Given the description of an element on the screen output the (x, y) to click on. 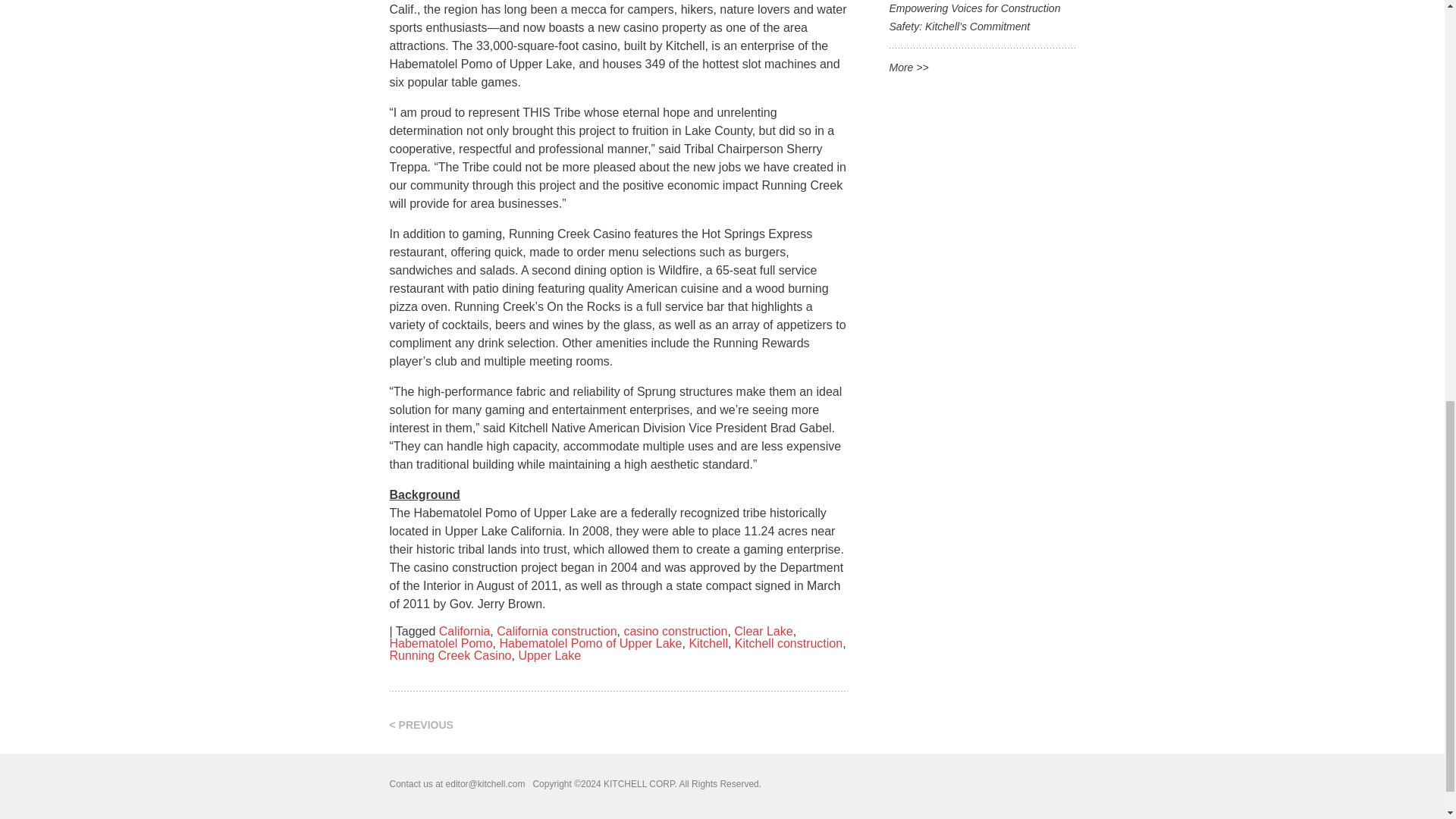
Kitchell construction (789, 643)
California construction (555, 631)
Upper Lake (549, 655)
California (464, 631)
Clear Lake (762, 631)
casino construction (674, 631)
Habematolel Pomo (441, 643)
Kitchell (708, 643)
Running Creek Casino (451, 655)
Habematolel Pomo of Upper Lake (590, 643)
